Given the description of an element on the screen output the (x, y) to click on. 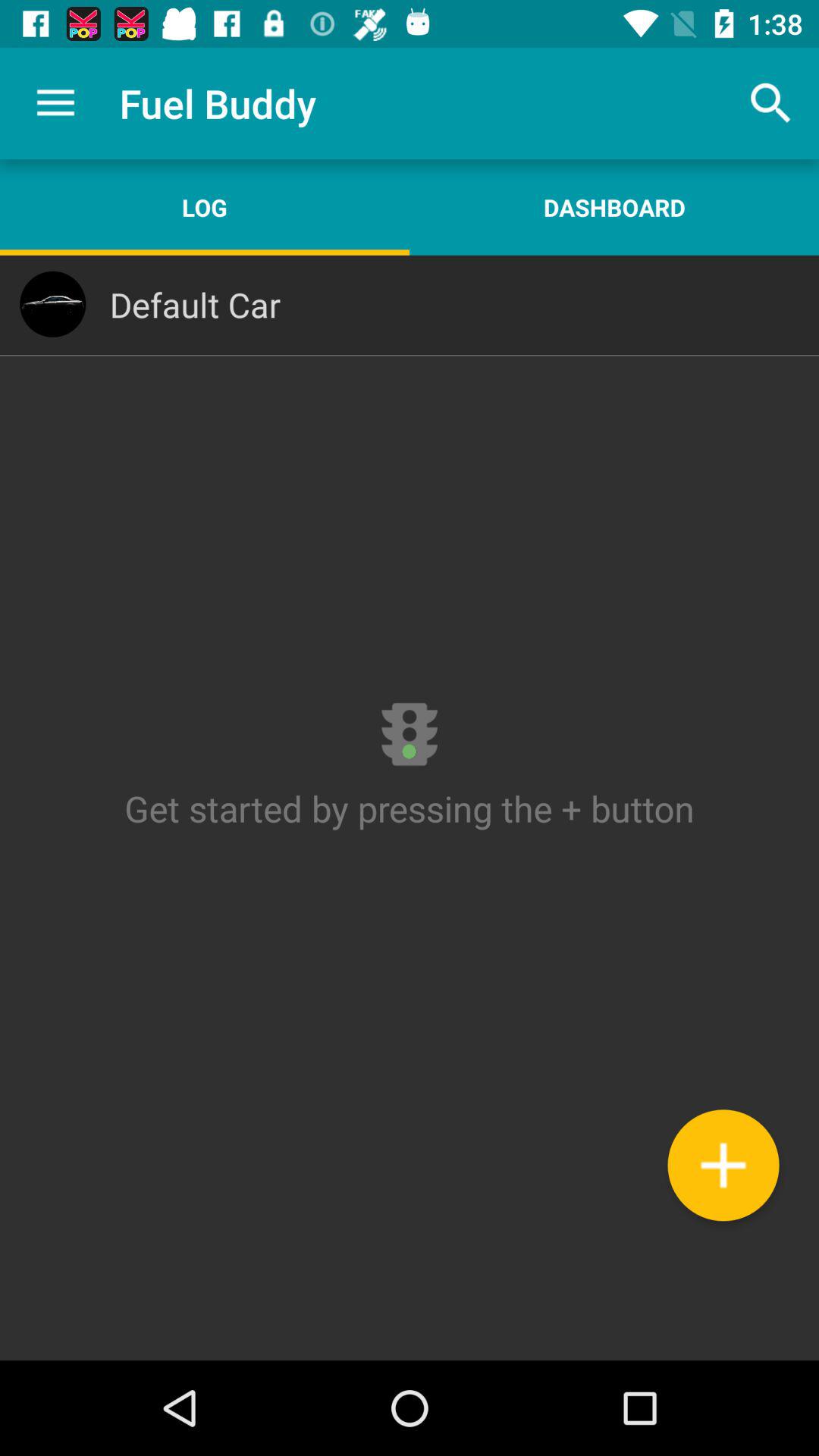
click item above the default car icon (614, 207)
